Given the description of an element on the screen output the (x, y) to click on. 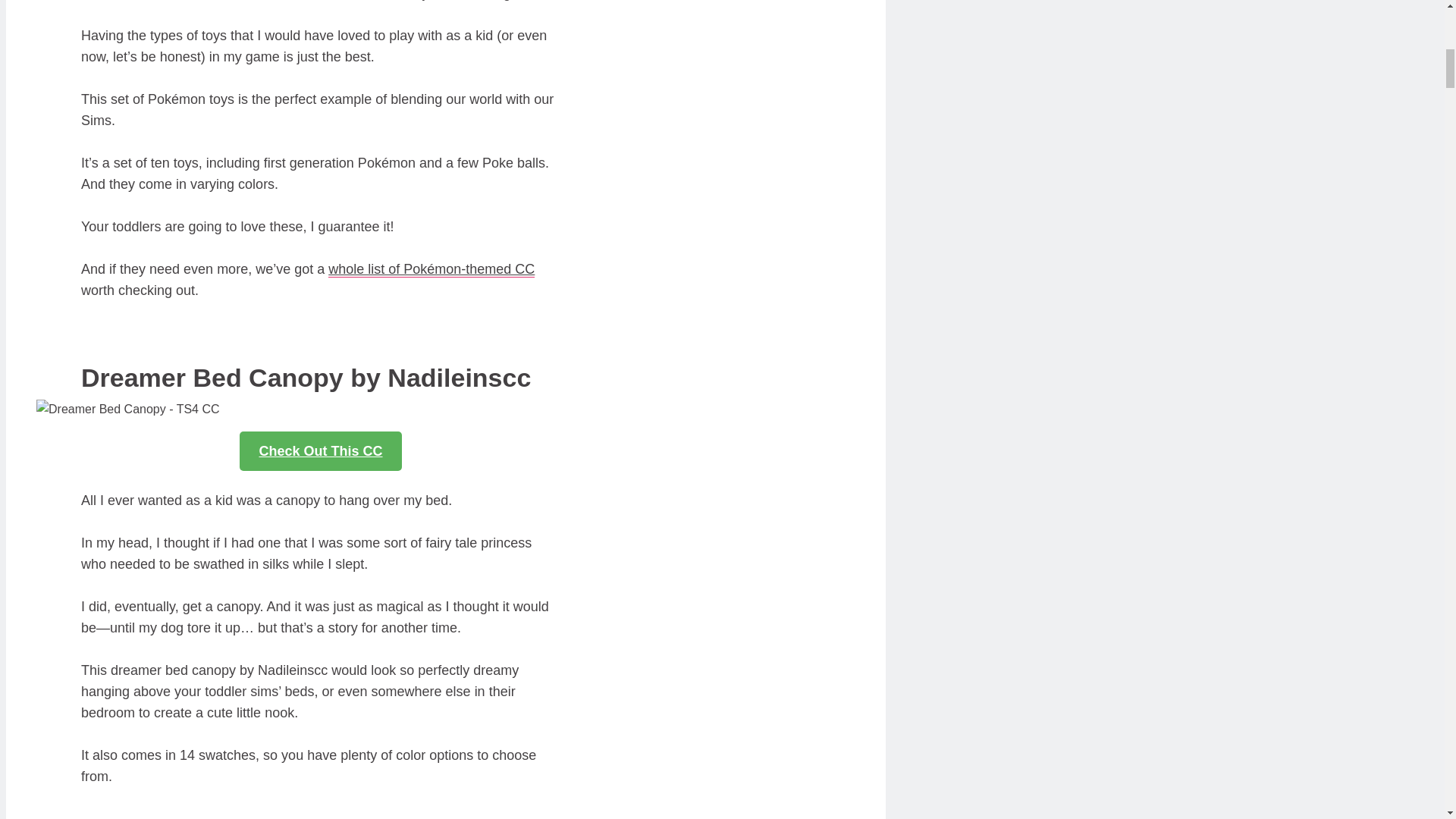
Check Out This CC (320, 450)
